Given the description of an element on the screen output the (x, y) to click on. 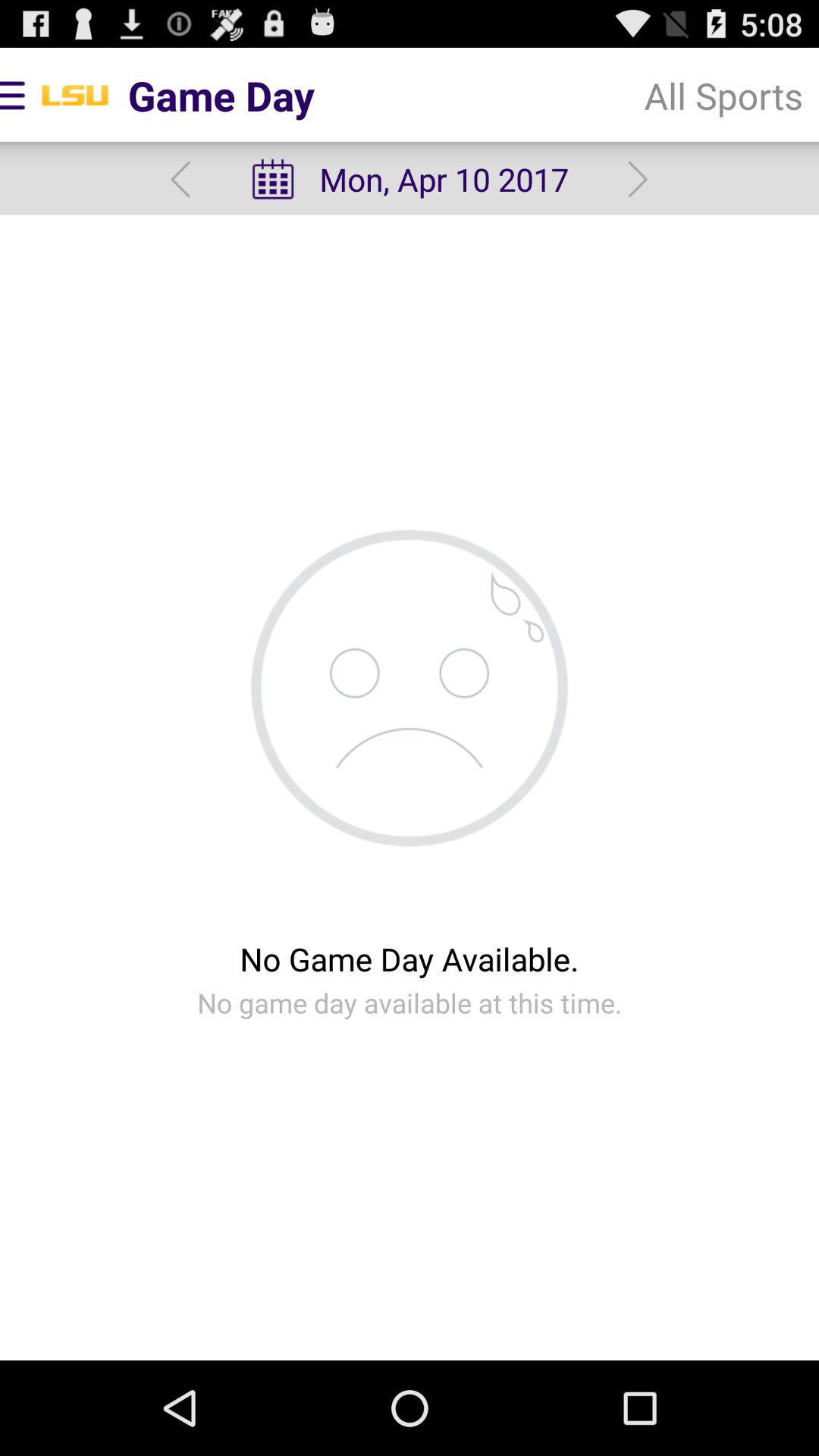
open mon apr 10 icon (408, 179)
